Given the description of an element on the screen output the (x, y) to click on. 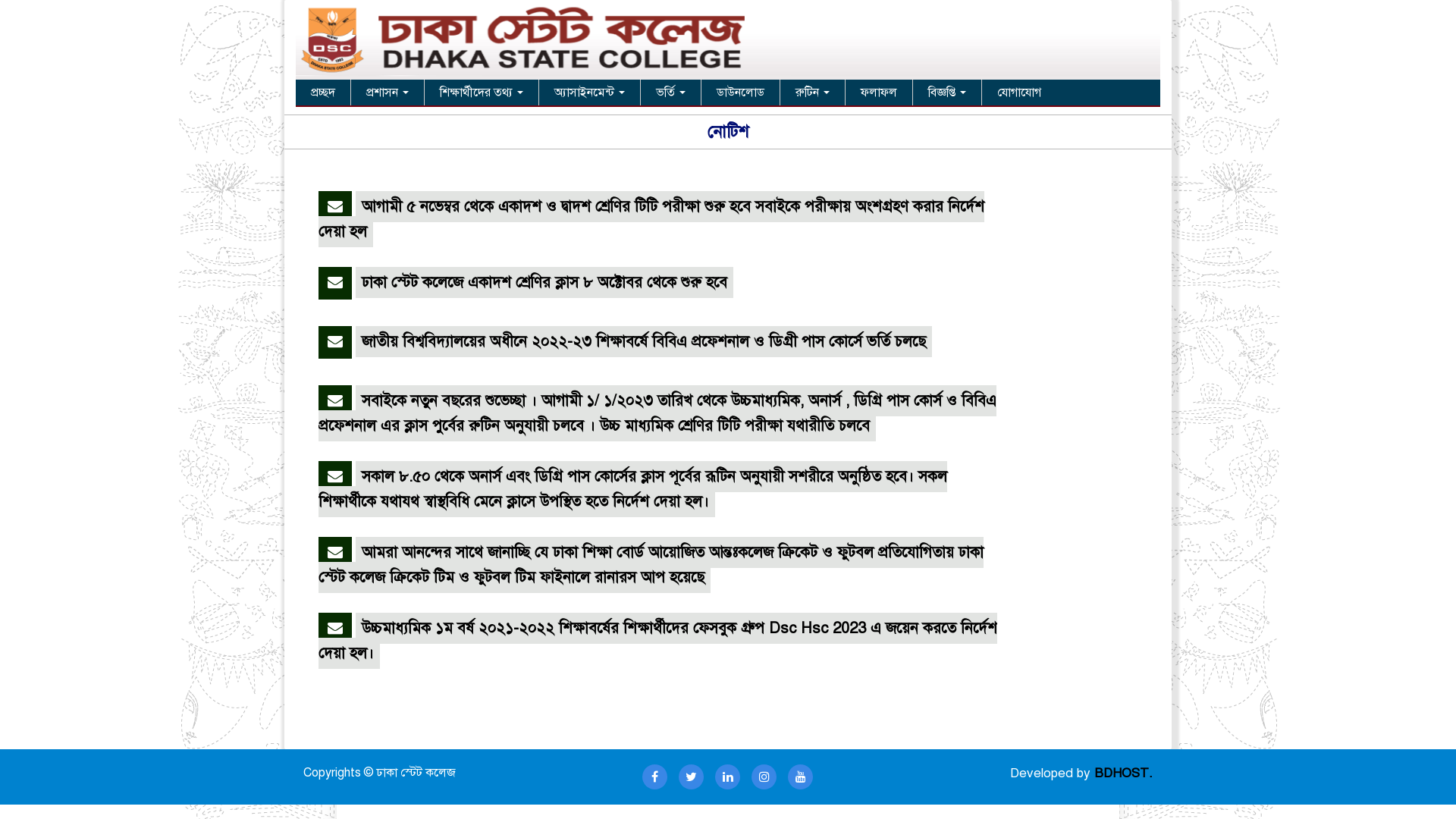
BDHOST. Element type: text (1123, 773)
